Given the description of an element on the screen output the (x, y) to click on. 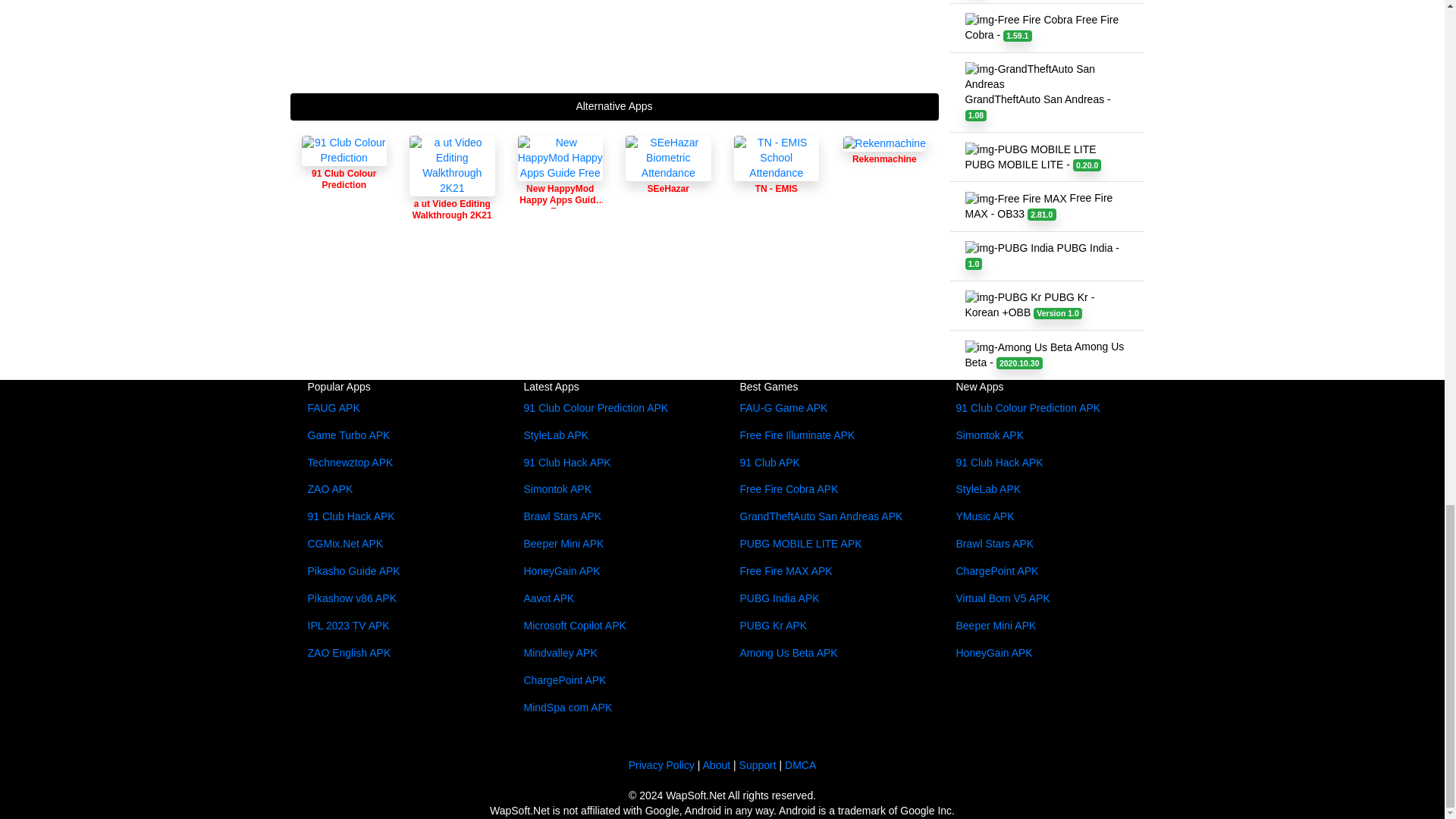
New HappyMod Happy Apps Guide Free (559, 179)
a ut Video Editing Walkthrough 2K21 (452, 165)
91 Club Colour Prediction (344, 168)
TN - EMIS (776, 179)
New HappyMod Happy Apps Guide Free (559, 179)
New HappyMod Happy Apps Guide Free (559, 157)
Rekenmachine (884, 157)
TN - EMIS (776, 179)
TN - EMIS (776, 157)
91 Club Colour Prediction (344, 150)
a ut Video Editing Walkthrough 2K21 (452, 190)
Rekenmachine (884, 157)
SEeHazar (668, 179)
a ut Video Editing Walkthrough 2K21 (452, 190)
SEeHazar (668, 179)
